Given the description of an element on the screen output the (x, y) to click on. 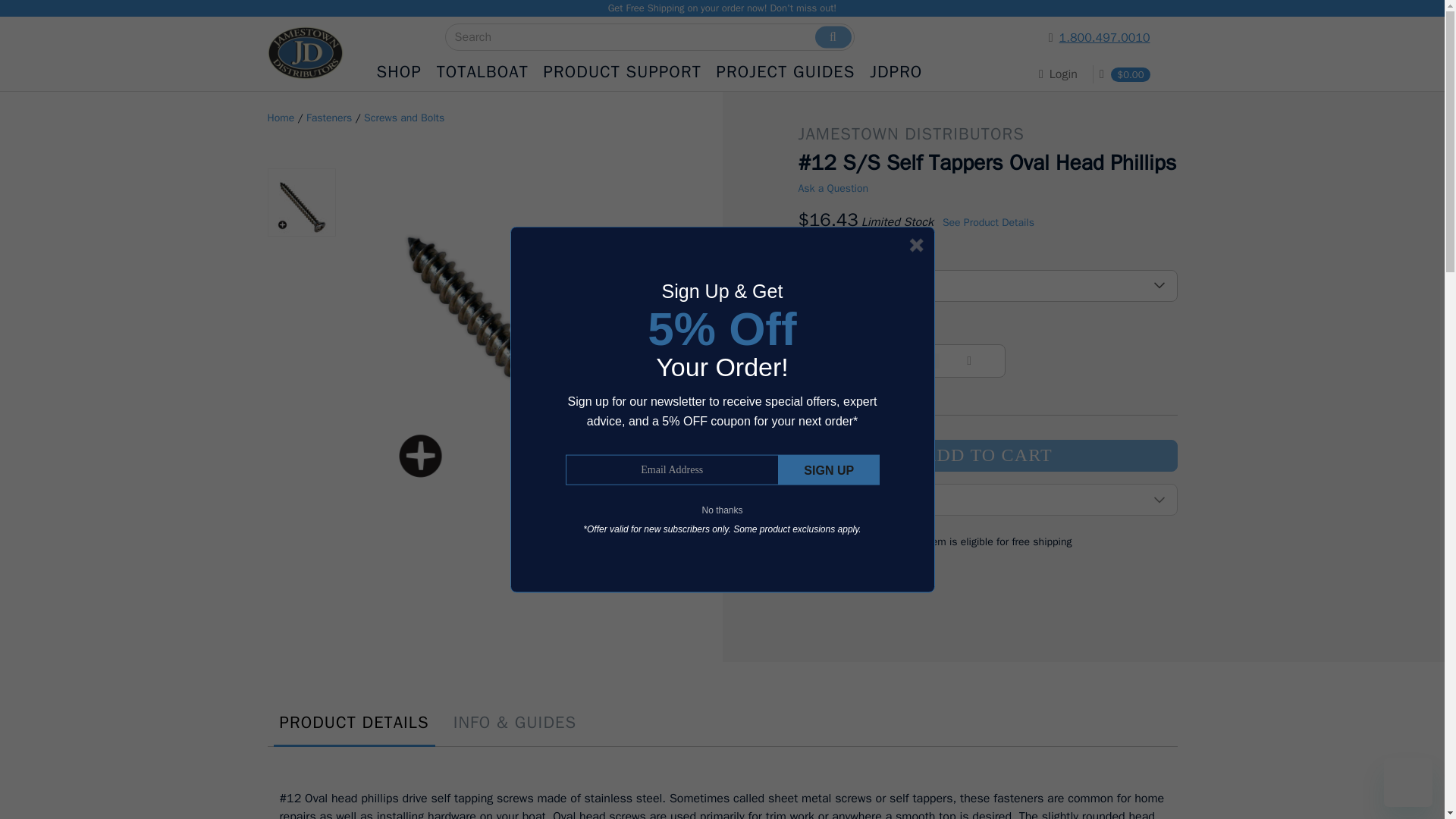
Button to launch messaging window (1408, 782)
Limited Stock - 1 available (897, 222)
No thanks (722, 510)
Login (1063, 74)
Login (1057, 74)
SHOP (397, 72)
PROJECT GUIDES (786, 72)
SIGN UP (828, 470)
1.800.497.0010 (1104, 37)
1.800.497.0010 (1035, 37)
SIGN UP (828, 470)
JDPRO (895, 72)
1 (901, 360)
Close (915, 244)
PRODUCT SUPPORT (622, 72)
